Given the description of an element on the screen output the (x, y) to click on. 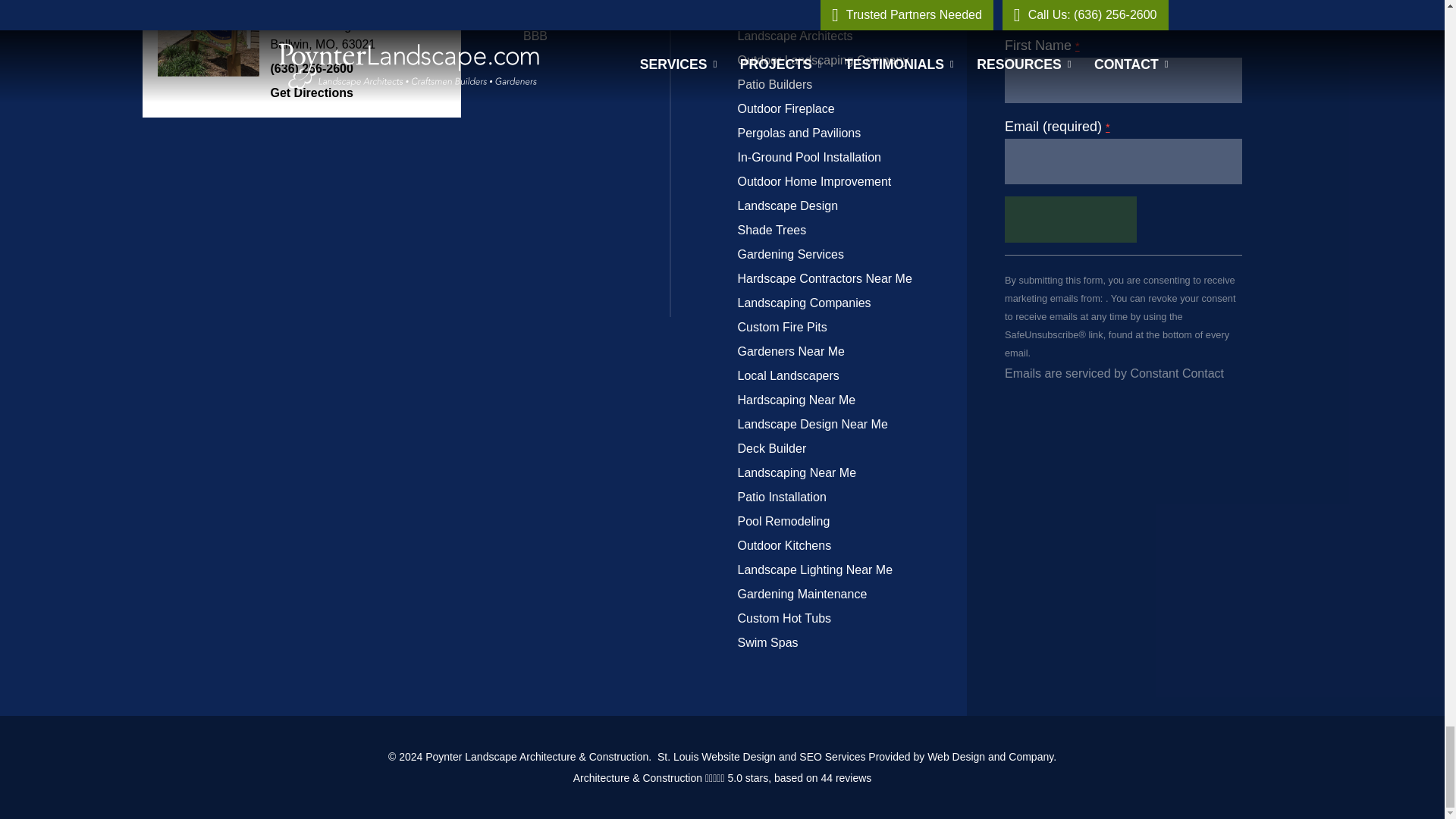
required (1077, 46)
Sign up (1070, 218)
required (1107, 127)
